Given the description of an element on the screen output the (x, y) to click on. 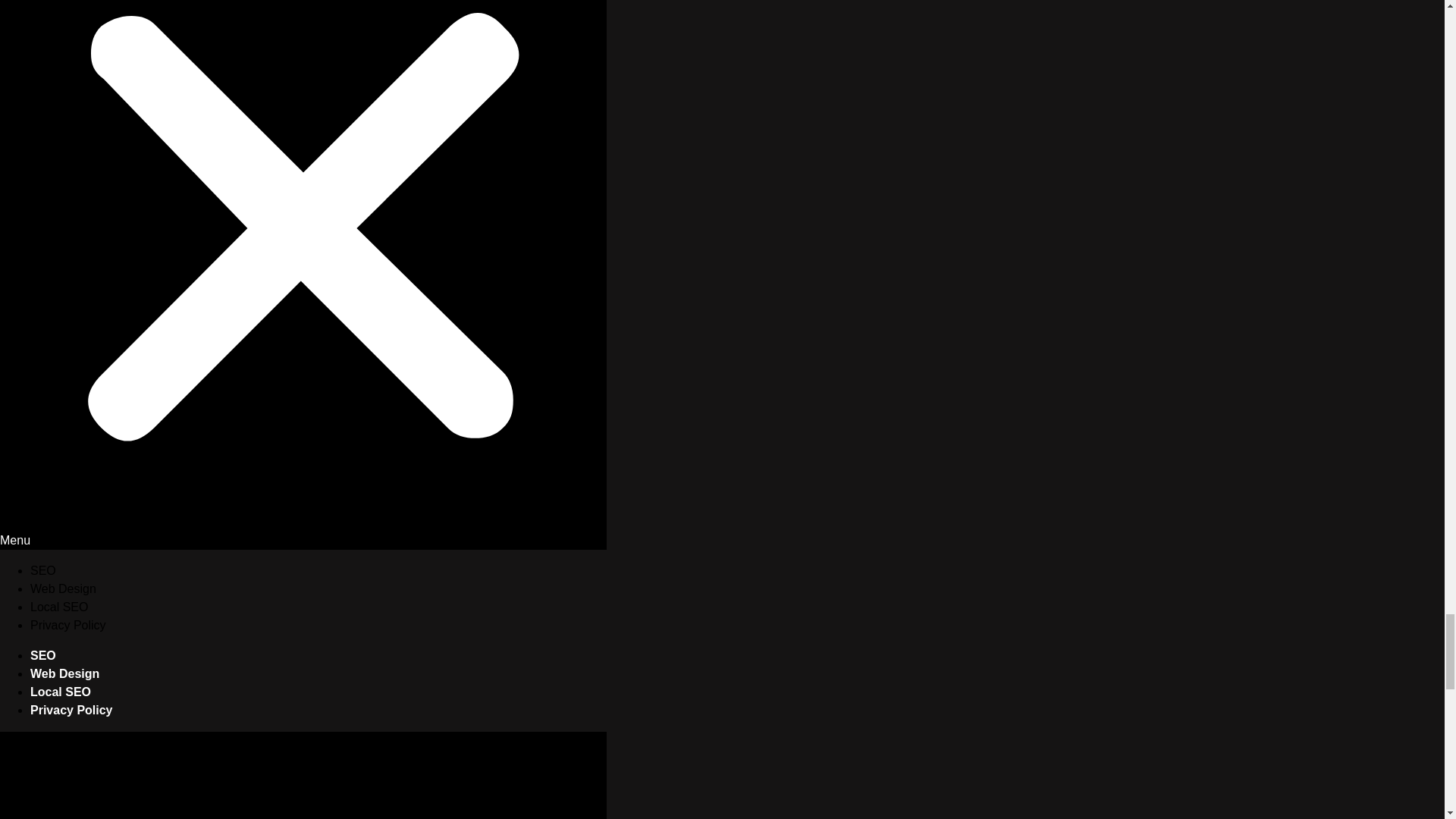
Web Design (63, 588)
Local SEO (60, 691)
SEO (43, 655)
Privacy Policy (68, 625)
SEO (43, 570)
Privacy Policy (71, 710)
Local SEO (58, 606)
Web Design (64, 673)
